Given the description of an element on the screen output the (x, y) to click on. 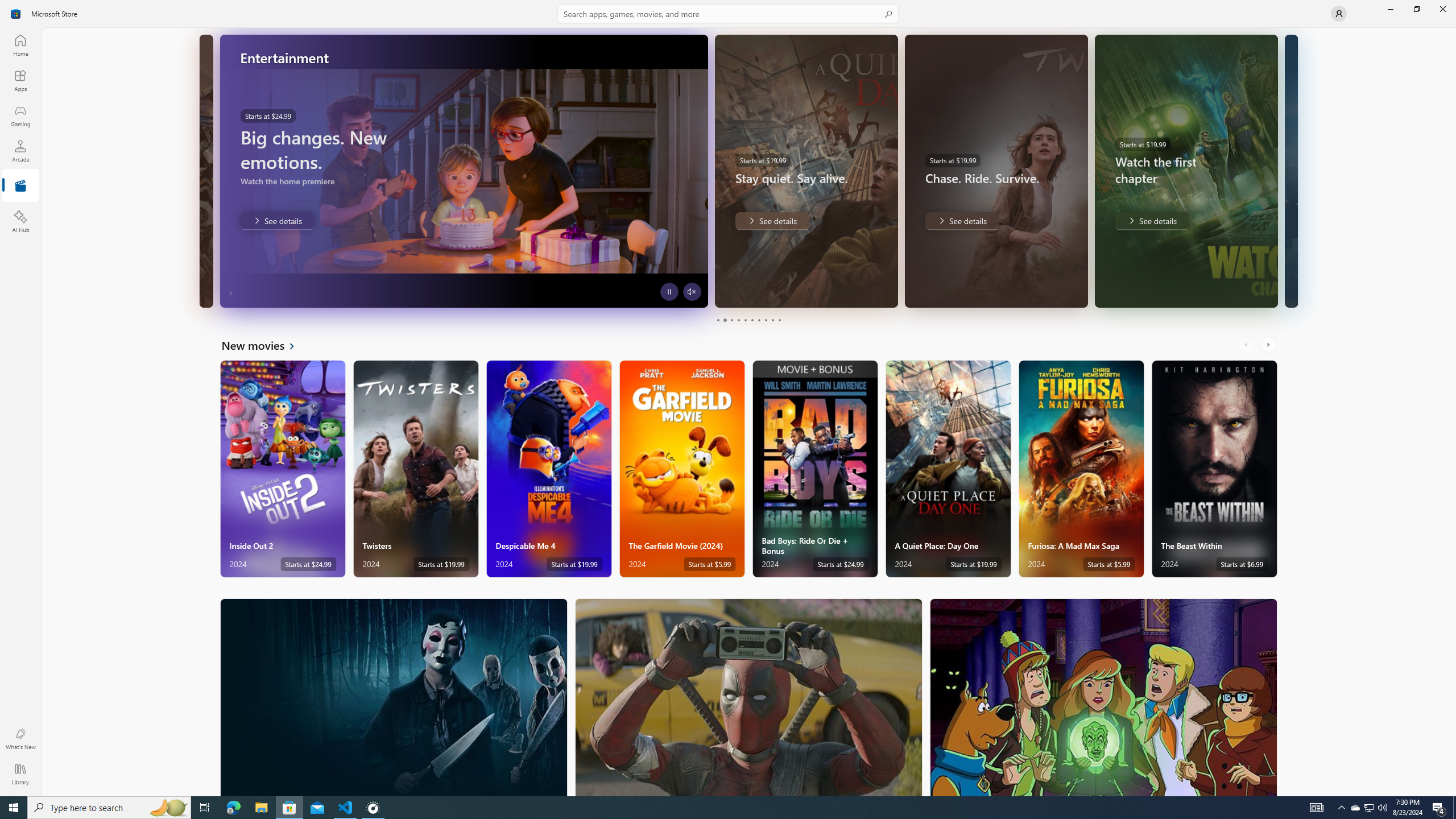
Page 3 (731, 319)
AutomationID: PosterImage (1103, 697)
Page 2 (724, 319)
Bad Boys: Ride Or Die + Bonus. Starts at $24.99   (814, 469)
Page 6 (751, 319)
Page 1 (717, 319)
See all  New movies (264, 345)
